Given the description of an element on the screen output the (x, y) to click on. 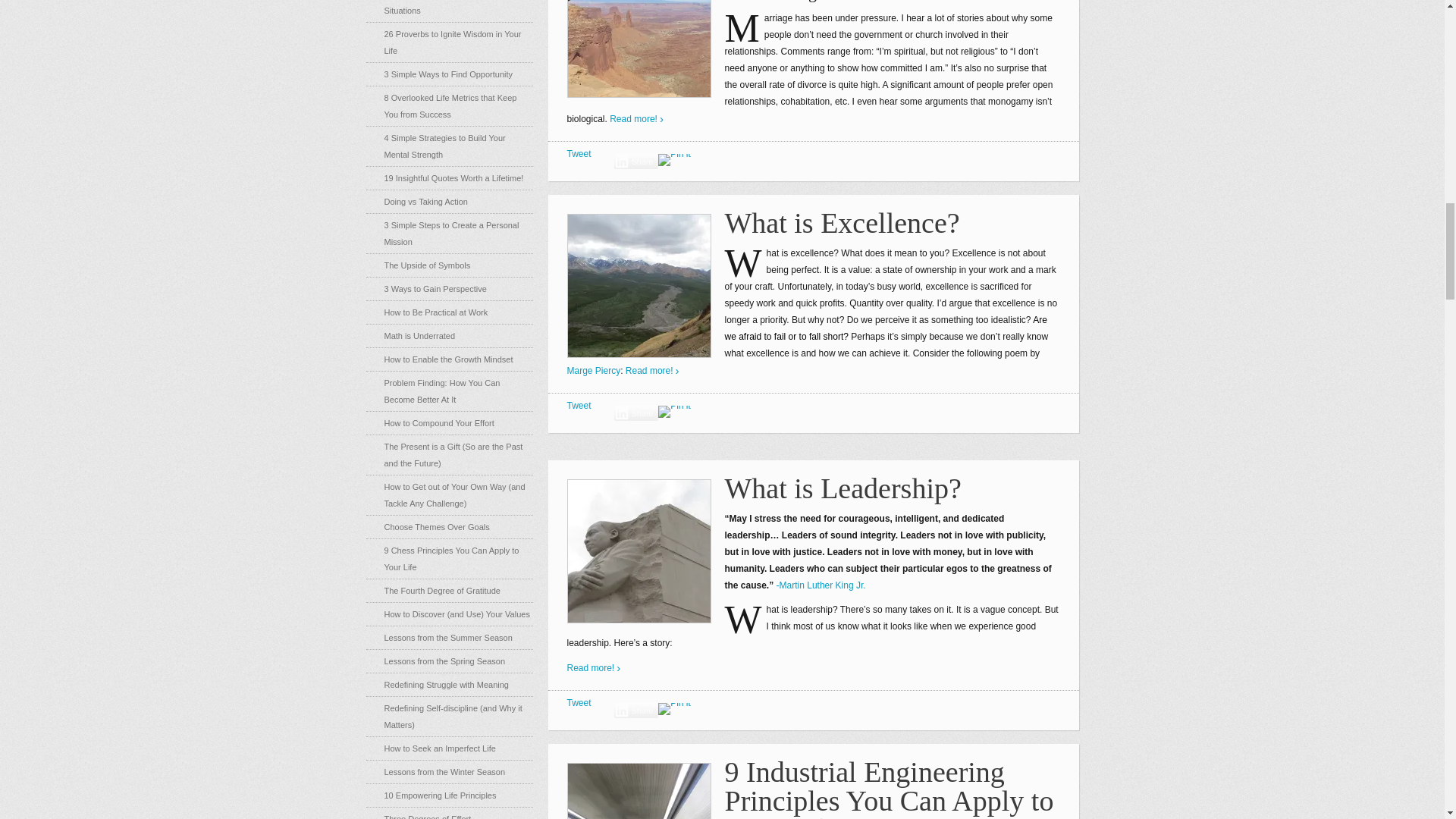
Pin it (674, 411)
What is Excellence? (842, 223)
Pin it (674, 159)
What is Leadership? (842, 488)
Pin it (674, 708)
